Given the description of an element on the screen output the (x, y) to click on. 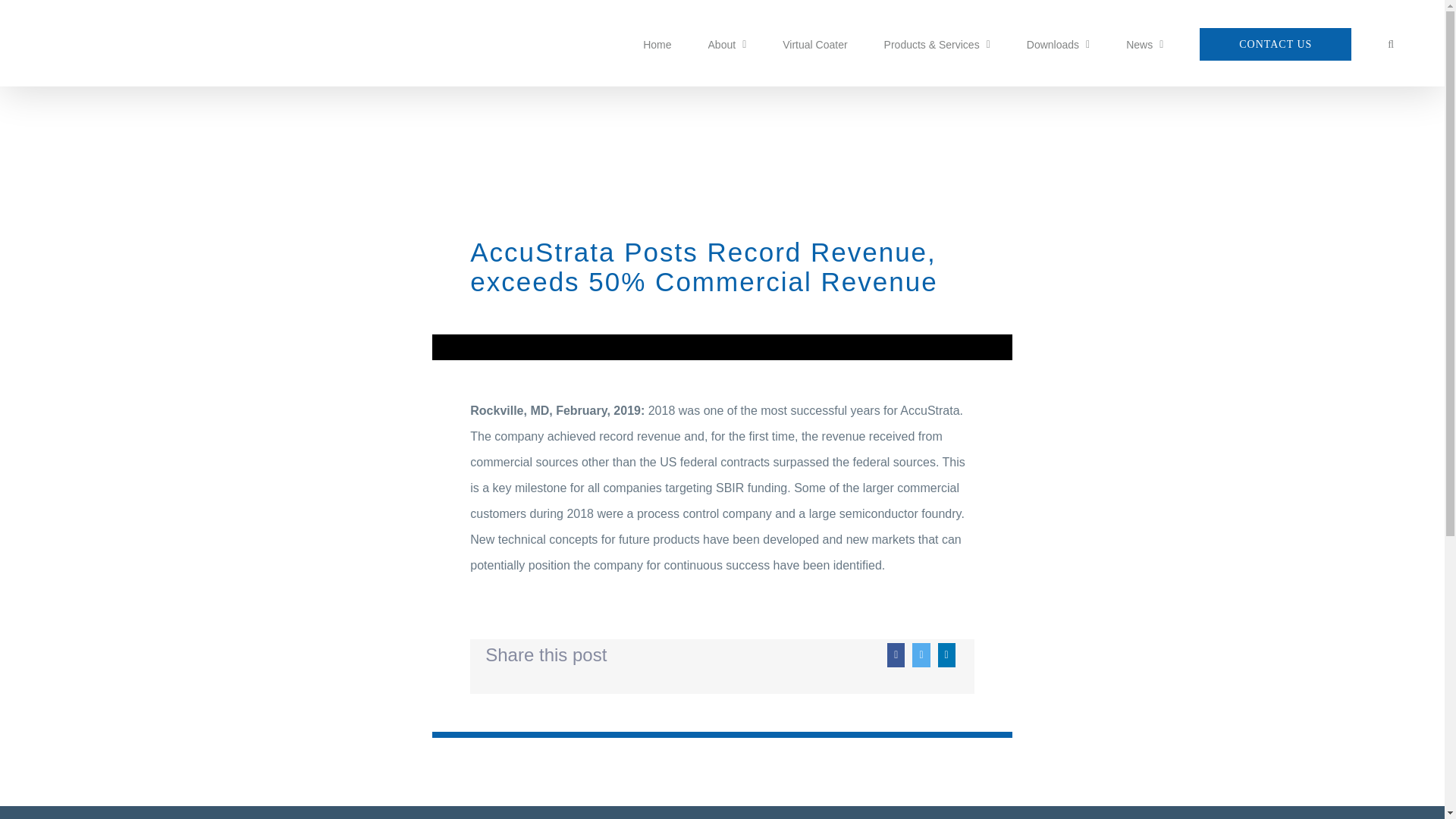
CONTACT US (1275, 42)
schedule-consultation (1275, 42)
Virtual Coater (815, 42)
